Given the description of an element on the screen output the (x, y) to click on. 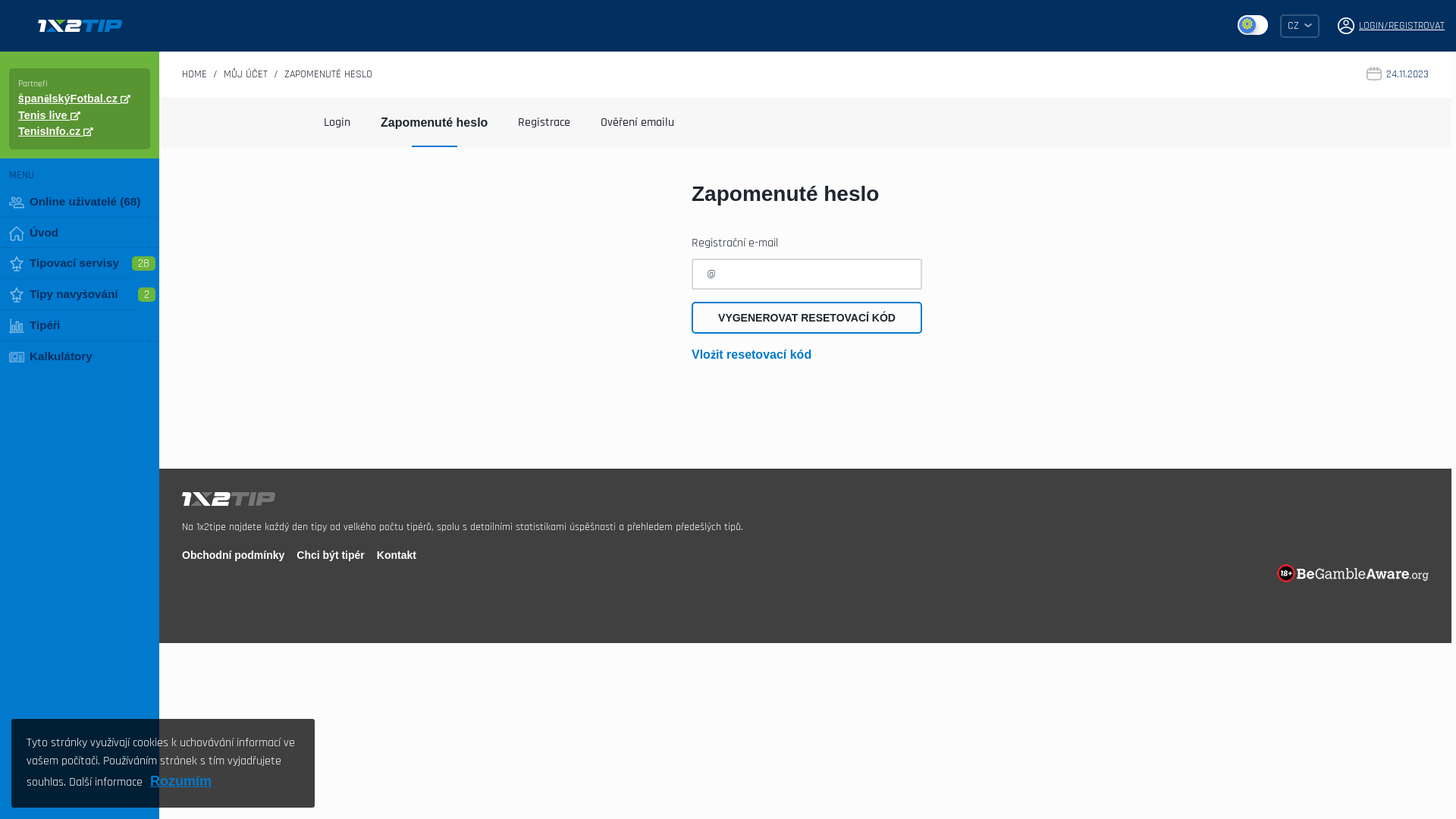
REGISTROVAT Element type: text (1416, 26)
CZ Element type: text (1299, 25)
Login Element type: text (336, 122)
Kontakt Element type: text (396, 555)
LOGIN Element type: text (1370, 26)
HOME Element type: text (194, 74)
Registrace Element type: text (543, 122)
Tenis live Element type: text (49, 115)
TenisInfo.cz Element type: text (55, 131)
